Given the description of an element on the screen output the (x, y) to click on. 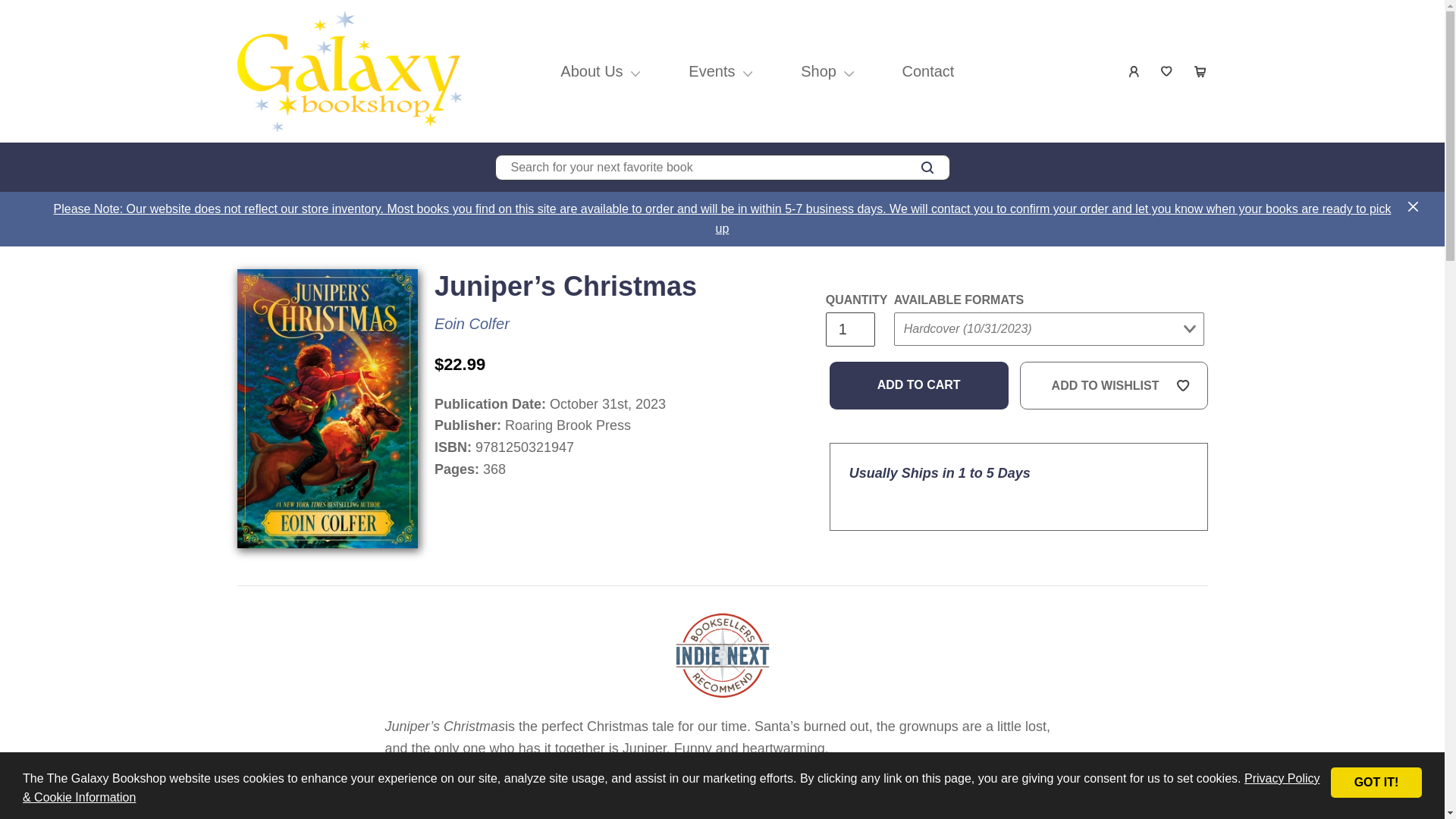
SEARCH (926, 167)
Events (711, 70)
Add to cart (919, 385)
Add to cart (919, 385)
1 (850, 329)
Wishlists (1168, 70)
Wishlist (1168, 70)
About Us (590, 70)
Eoin Colfer (471, 323)
Log in (1134, 70)
ADD TO WISHLIST (1114, 385)
Submit (922, 359)
Contact (928, 70)
Cart (1200, 70)
